Given the description of an element on the screen output the (x, y) to click on. 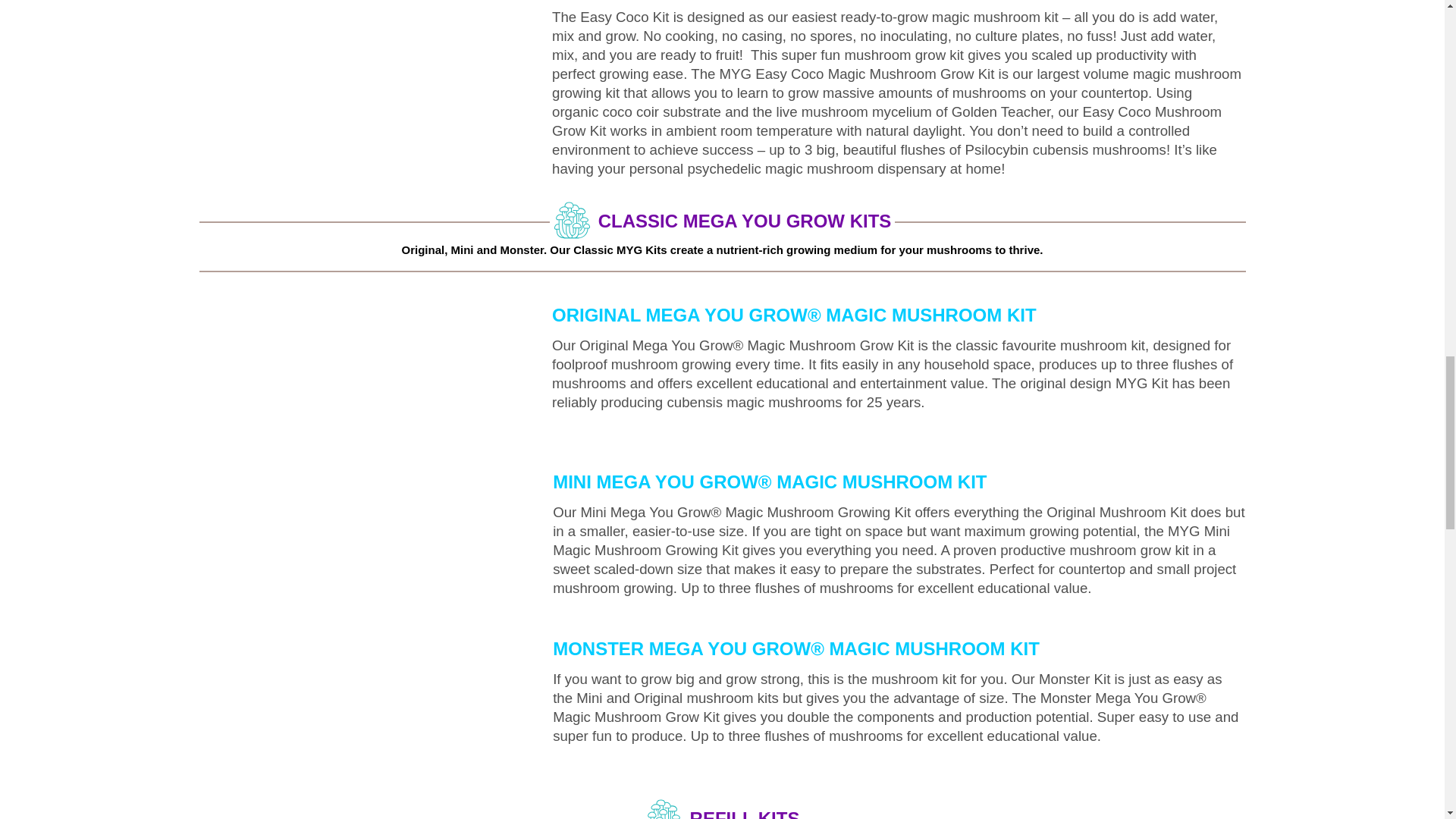
OriginalKit400 (368, 374)
MiniKit400 (368, 541)
MonsterKit400 (368, 707)
CocoKit400 (368, 60)
